Given the description of an element on the screen output the (x, y) to click on. 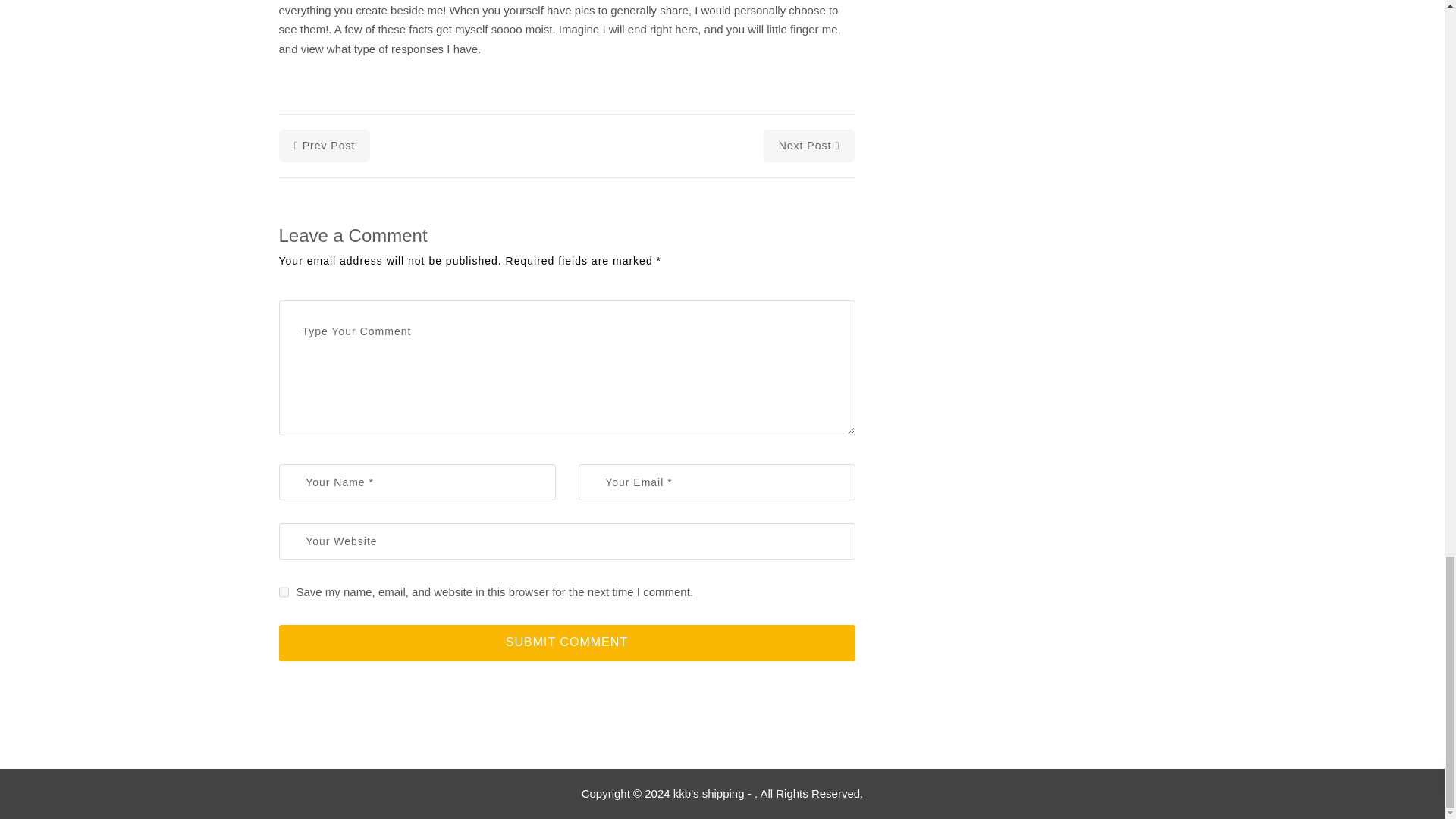
Submit Comment (567, 642)
Submit Comment (567, 642)
Prev Post (325, 145)
Next Post (809, 145)
